Given the description of an element on the screen output the (x, y) to click on. 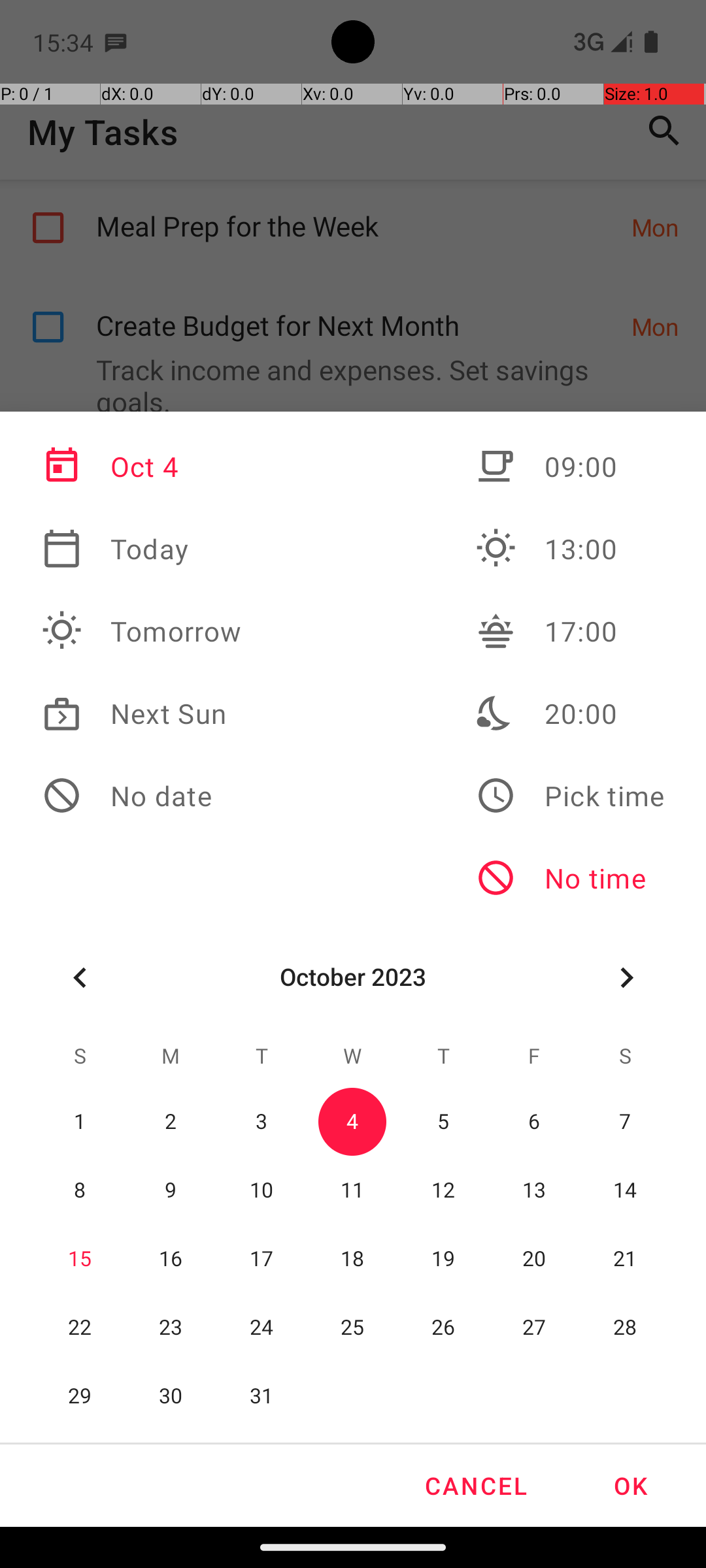
Oct 4 Element type: android.widget.CompoundButton (141, 466)
